Given the description of an element on the screen output the (x, y) to click on. 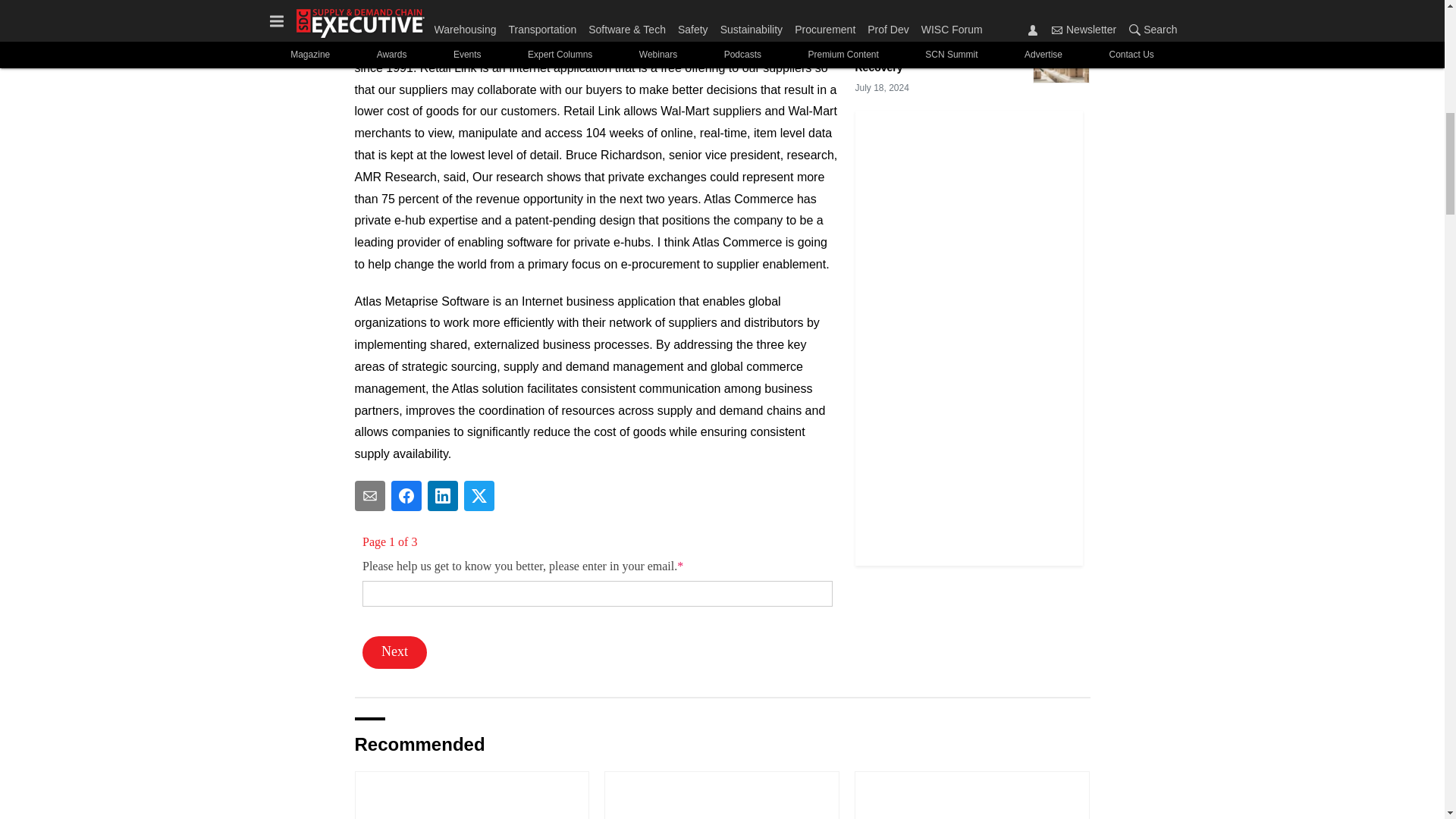
Interaction questions (597, 601)
Share To facebook (406, 495)
Share To twitter (479, 495)
Share To email (370, 495)
Share To linkedin (443, 495)
